Given the description of an element on the screen output the (x, y) to click on. 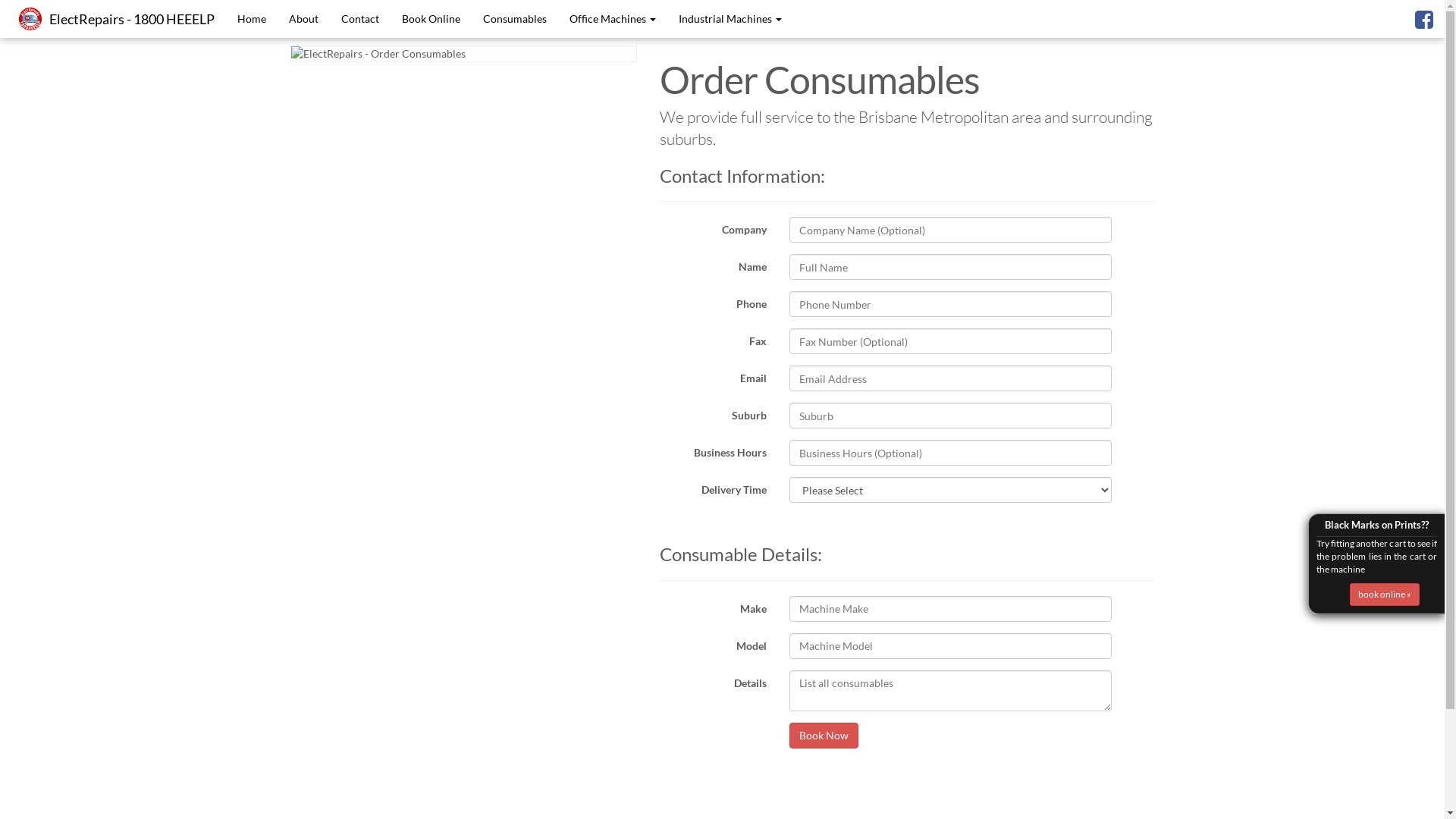
ElectRepairs - 1800 HEEELP Element type: text (131, 18)
Office Machines Element type: text (612, 18)
About Element type: text (303, 18)
Consumables Element type: text (514, 18)
Industrial Machines Element type: text (730, 18)
Book Now Element type: text (823, 735)
Contact Element type: text (359, 18)
Home Element type: text (251, 18)
Book Online Element type: text (430, 18)
